Given the description of an element on the screen output the (x, y) to click on. 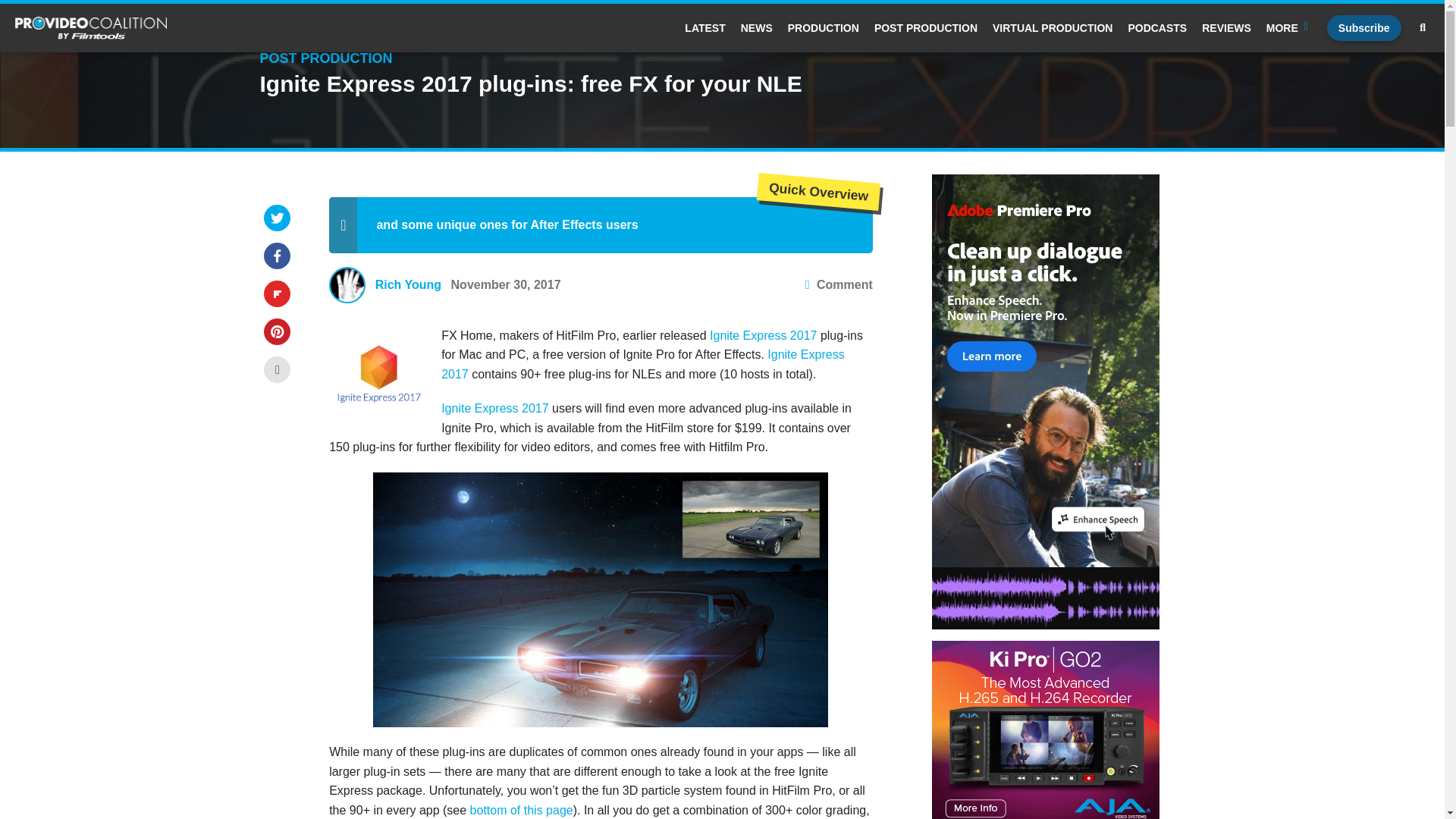
Search (644, 274)
bottom of this page (521, 809)
Ignite Express 2017 (642, 364)
LATEST (704, 27)
Rich Young (408, 283)
VIRTUAL PRODUCTION (1052, 27)
Ignite Express 2017 (494, 408)
NEWS (757, 27)
POST PRODUCTION (925, 27)
PRODUCTION (823, 27)
Comment (838, 285)
Post Production (925, 27)
Ignite Express 2017 plug-ins: free FX for your NLE 10 (377, 372)
MORE (1288, 27)
Ignite Express 2017 plug-ins: free FX for your NLE 11 (600, 599)
